Given the description of an element on the screen output the (x, y) to click on. 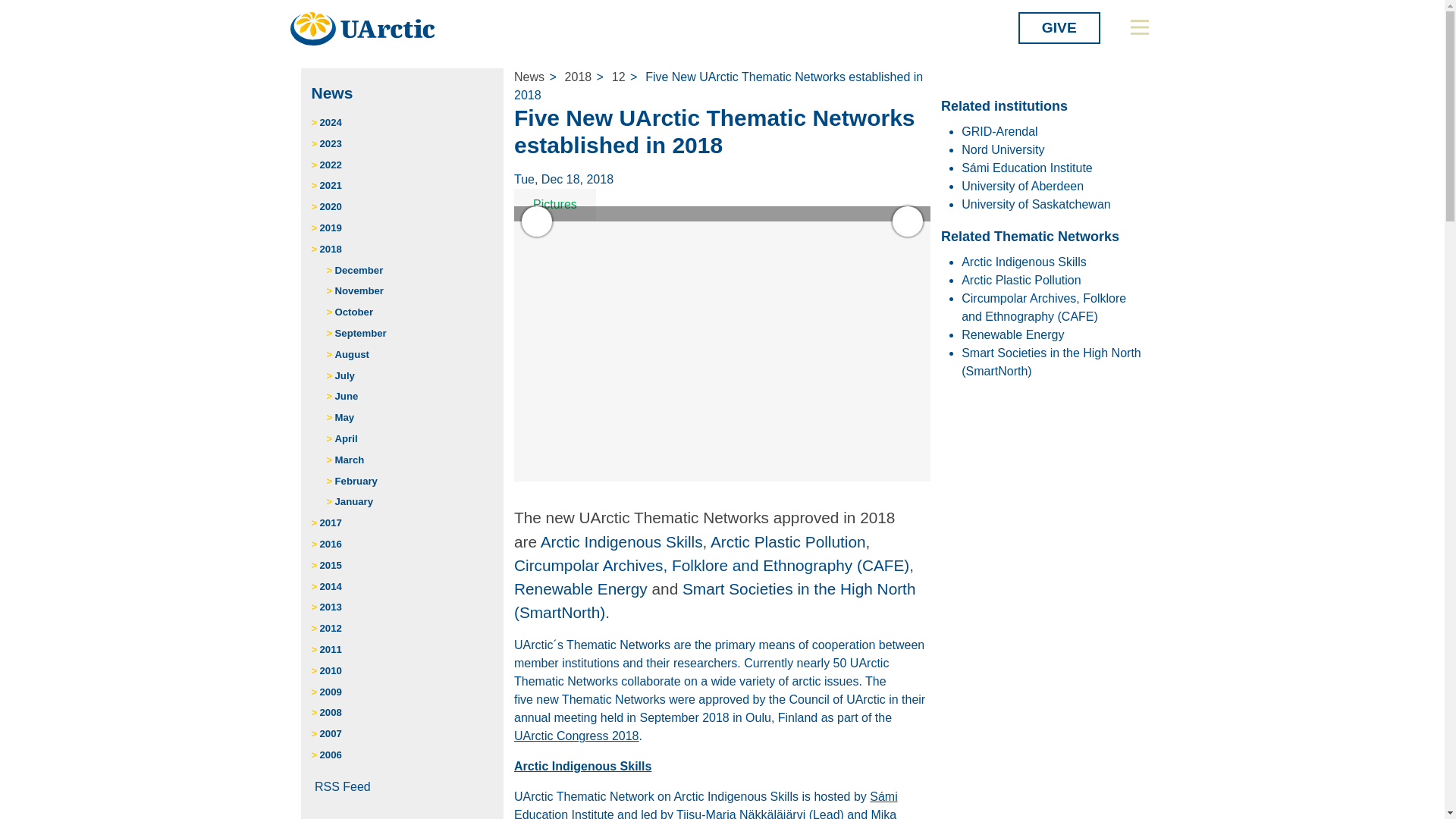
University of Saskatchewan (1035, 204)
Arctic Plastic Pollution (1020, 279)
GIVE (1058, 28)
Congress Portal (576, 735)
Arctic Indigenous Skills (1023, 261)
GRID-Arendal (998, 131)
Arctic Indigenous Skills (621, 541)
University of Aberdeen (1021, 185)
Nord University (1001, 149)
Arctic Plastic Pollution (788, 541)
